Given the description of an element on the screen output the (x, y) to click on. 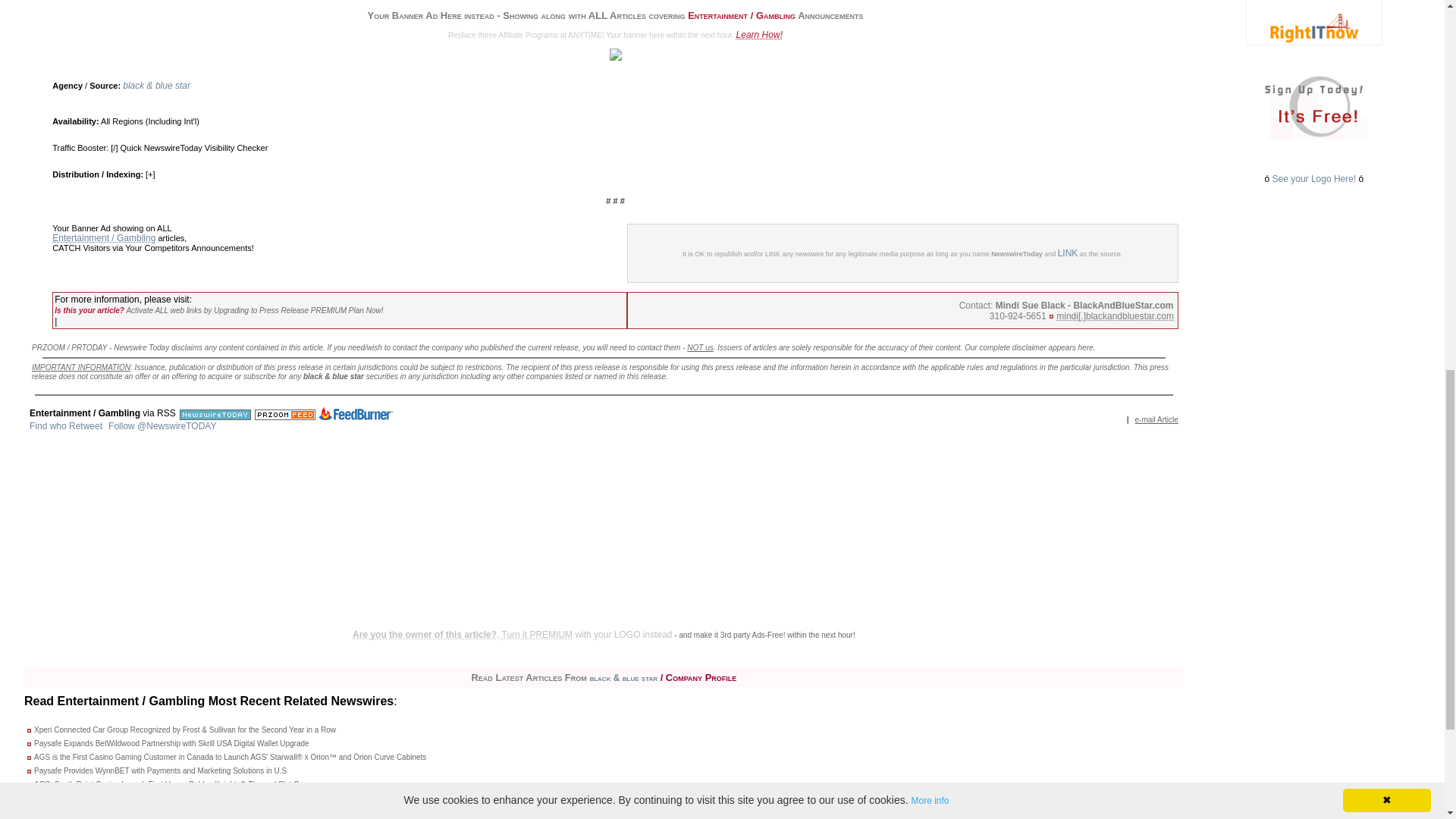
here (1085, 347)
Learn How! (759, 34)
LINK (1068, 253)
Quick NewswireToday (161, 147)
Find who Retweet (65, 425)
e-mail Article (1156, 419)
